Given the description of an element on the screen output the (x, y) to click on. 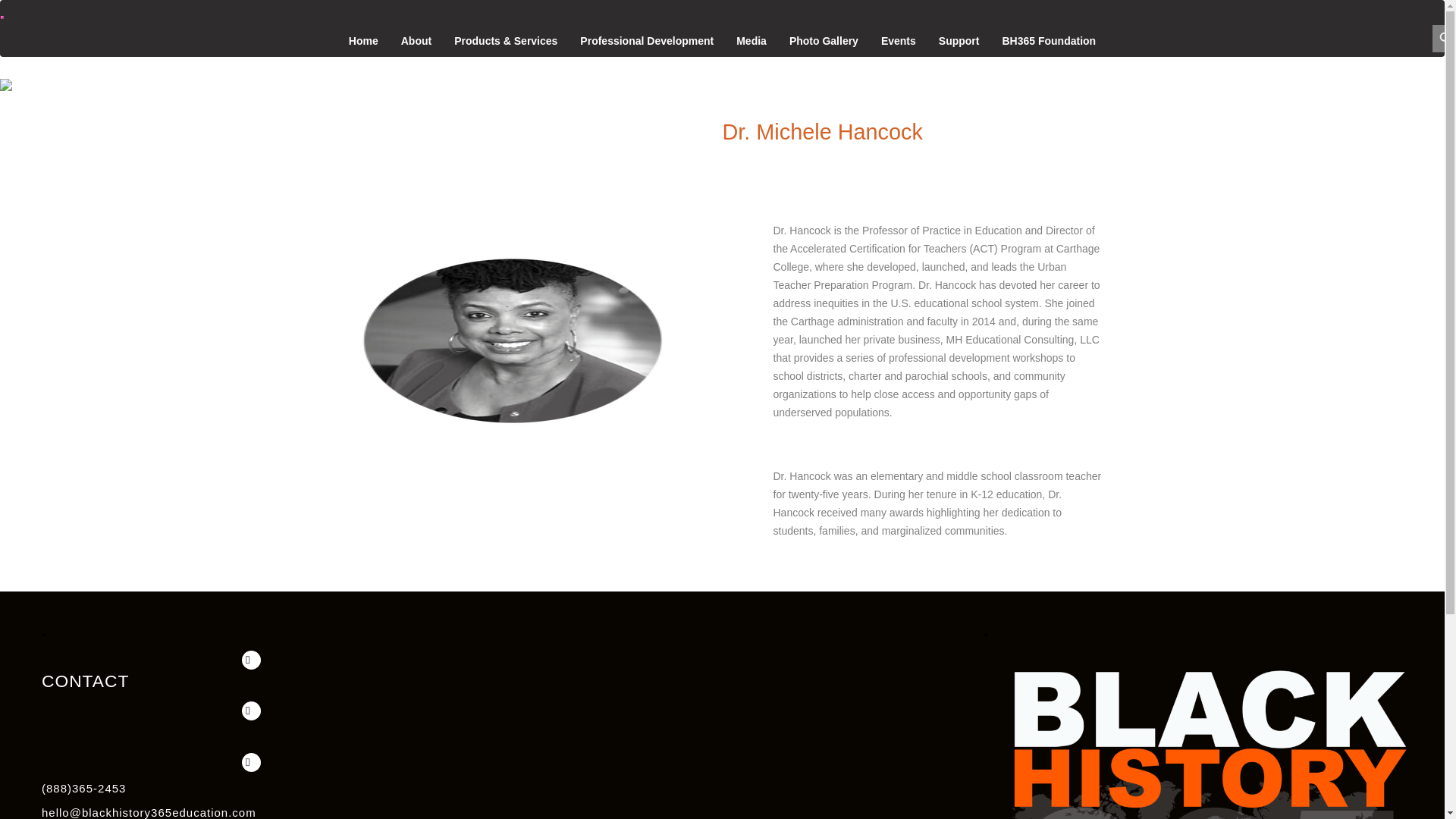
Support (959, 40)
About (415, 40)
Photo Gallery (824, 40)
Home (363, 40)
Media (751, 40)
BH365 Foundation (1048, 40)
Events (897, 40)
Professional Development (646, 40)
